Given the description of an element on the screen output the (x, y) to click on. 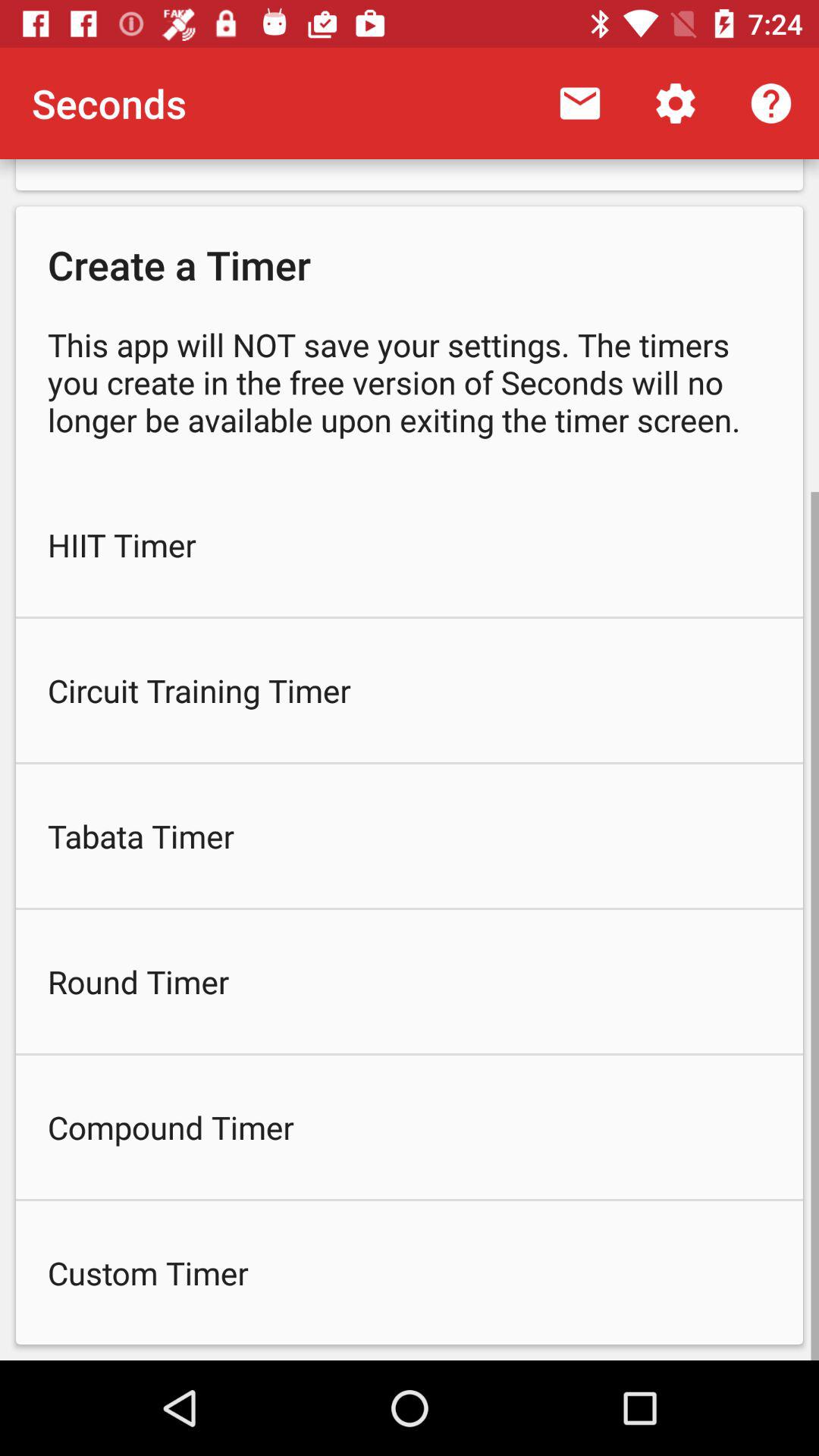
jump to the custom timer item (409, 1272)
